Given the description of an element on the screen output the (x, y) to click on. 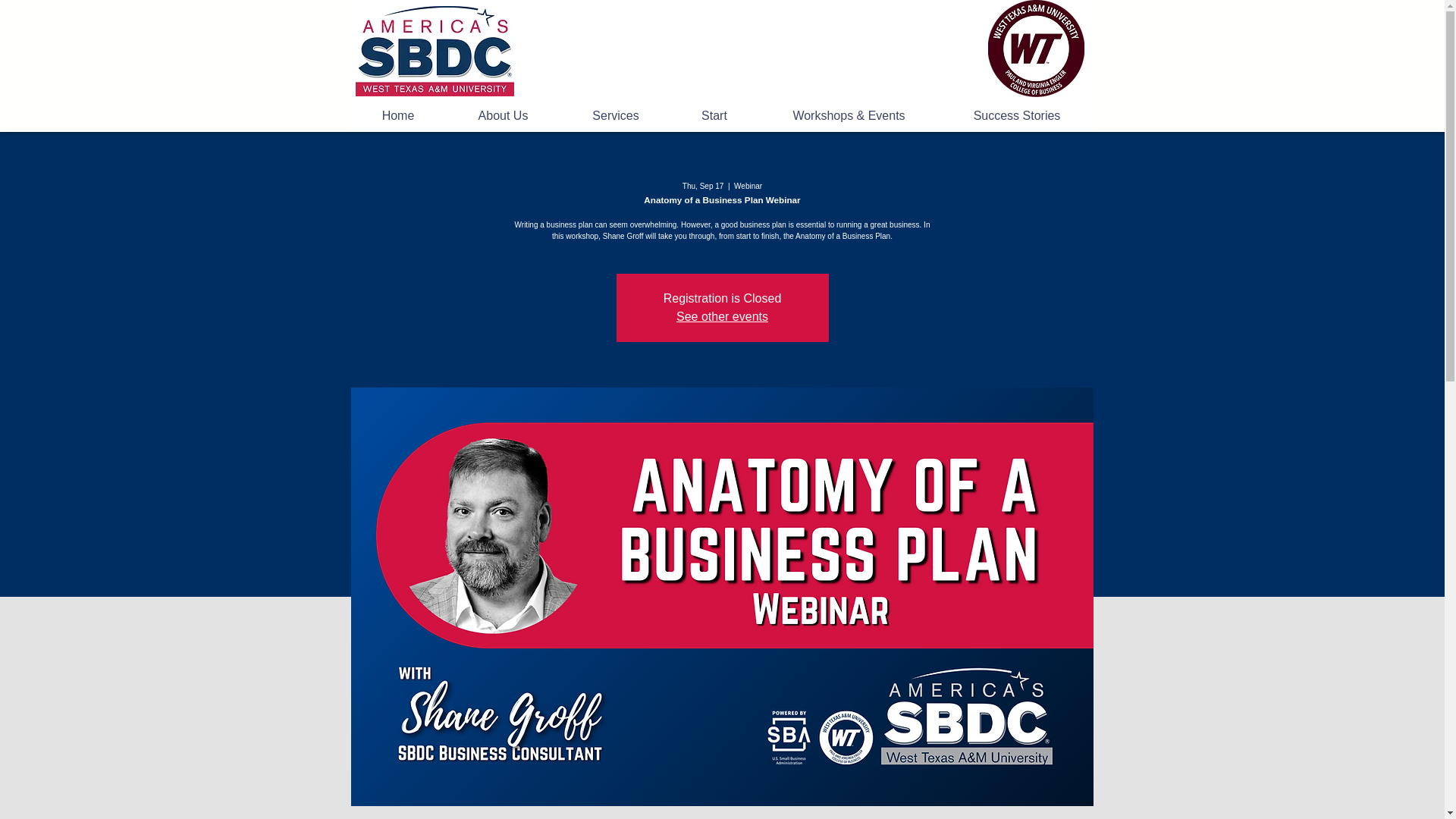
See other events (722, 316)
About Us (502, 116)
Home (434, 50)
Start (713, 116)
Success Stories (1017, 116)
Services (615, 116)
Home (397, 116)
